Given the description of an element on the screen output the (x, y) to click on. 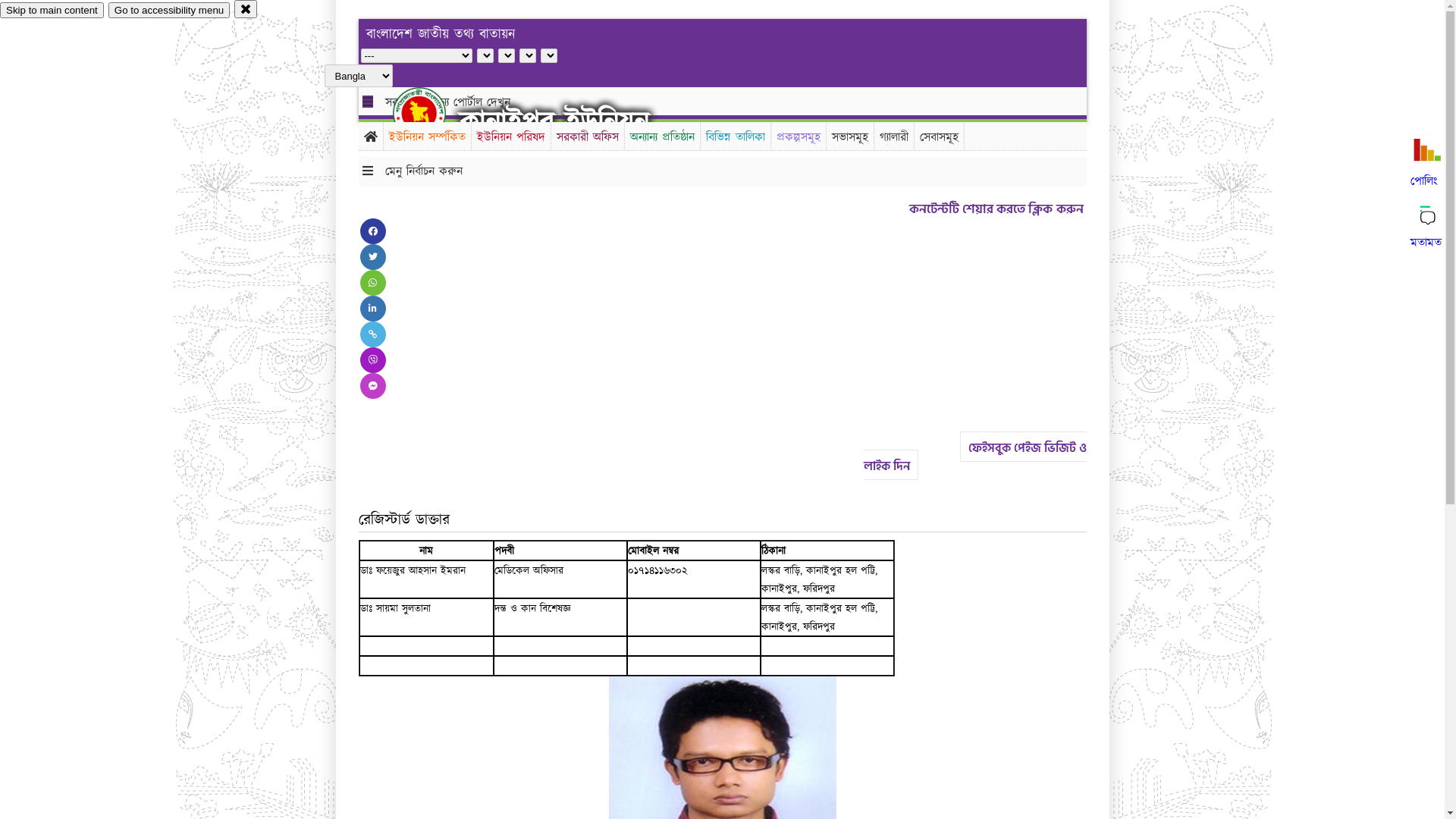
Go to accessibility menu Element type: text (168, 10)

                
             Element type: hover (431, 112)
Skip to main content Element type: text (51, 10)
close Element type: hover (245, 9)
